Given the description of an element on the screen output the (x, y) to click on. 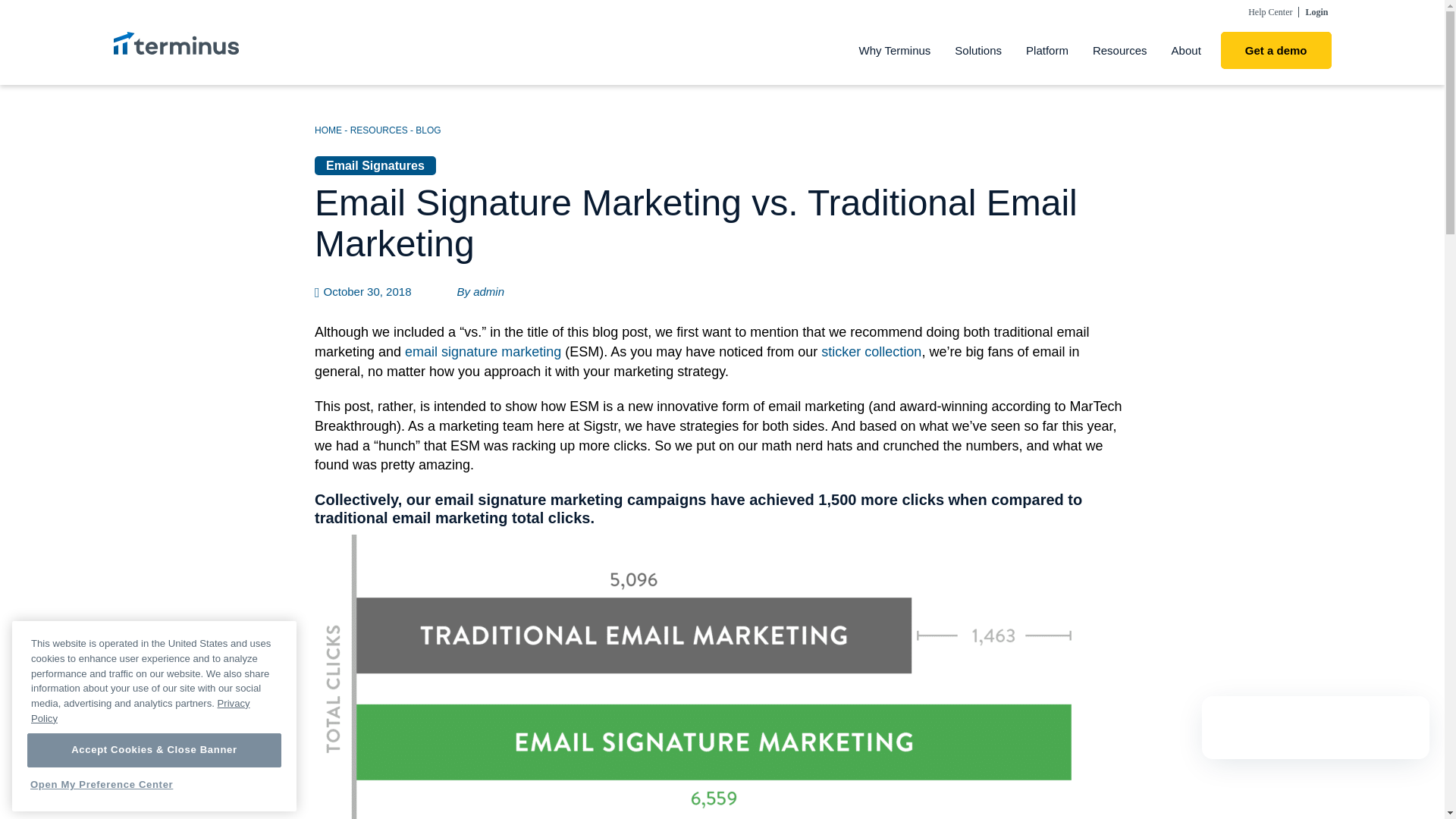
Solutions (977, 50)
Why Terminus (895, 50)
Platform (1046, 50)
